Given the description of an element on the screen output the (x, y) to click on. 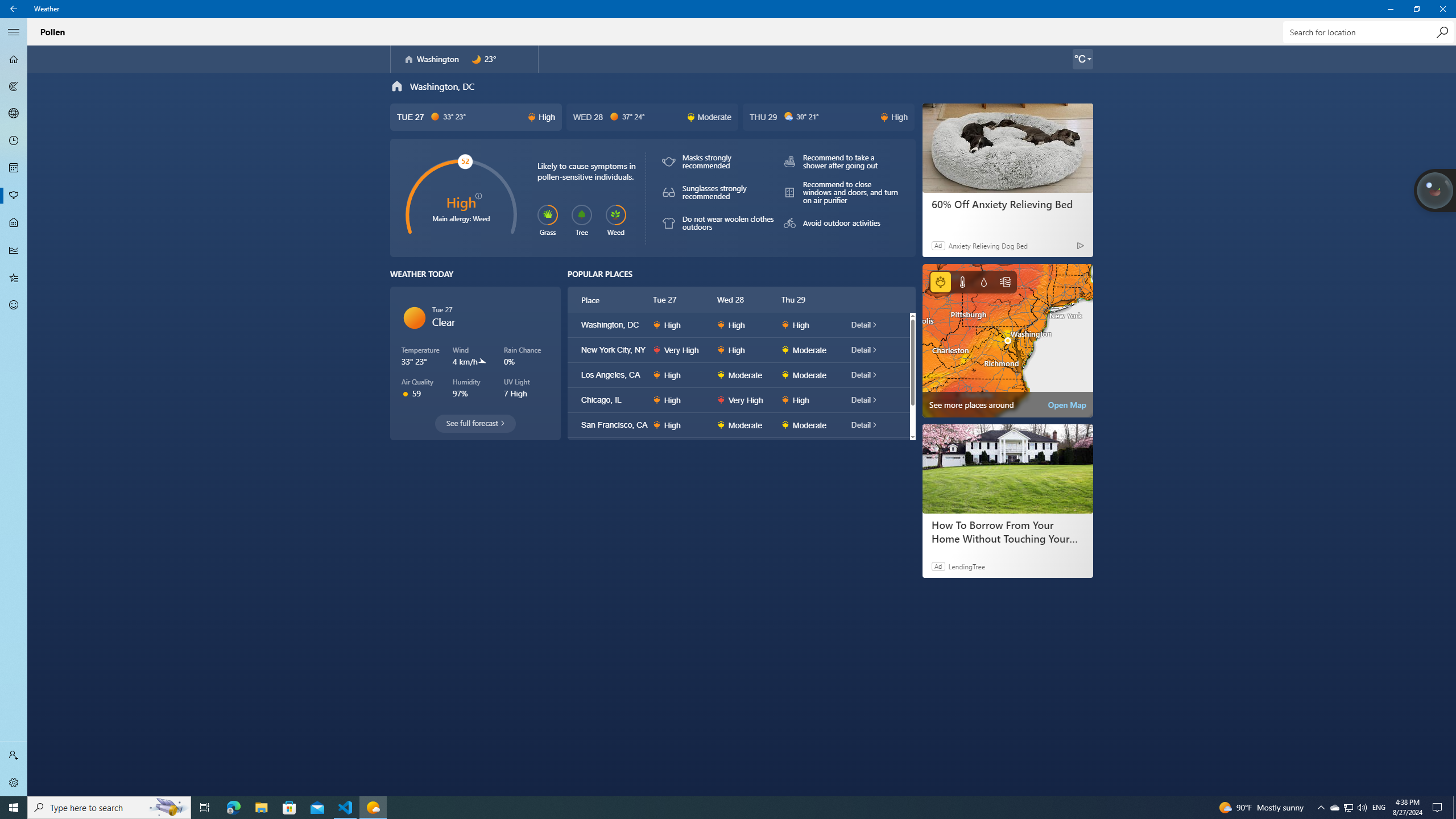
Search (1442, 31)
Weather - 1 running window (373, 807)
Send Feedback - Not Selected (13, 304)
Pollen - Not Selected (13, 195)
3D Maps - Not Selected (13, 113)
Favorites - Not Selected (13, 277)
Settings (13, 782)
Maps - Not Selected (13, 85)
Close Weather (1442, 9)
Collapse Navigation (13, 31)
